Given the description of an element on the screen output the (x, y) to click on. 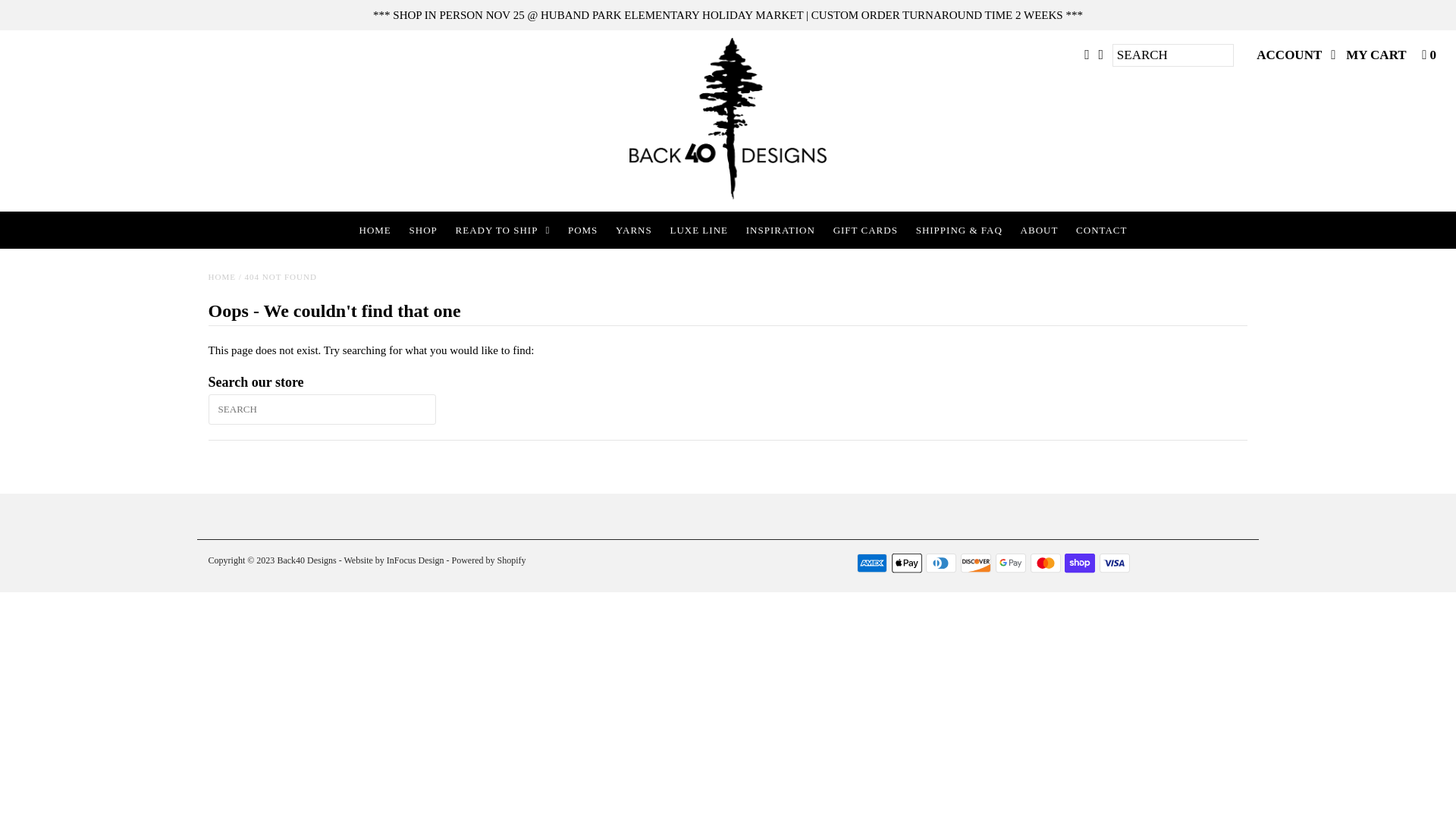
INSPIRATION Element type: text (780, 230)
YARNS Element type: text (633, 230)
SHOP Element type: text (423, 230)
HOME Element type: text (374, 230)
CONTACT Element type: text (1101, 230)
ABOUT Element type: text (1039, 230)
MY CART   0 Element type: text (1391, 55)
ACCOUNT Element type: text (1295, 55)
READY TO SHIP Element type: text (503, 230)
POMS Element type: text (582, 230)
SHIPPING & FAQ Element type: text (959, 230)
Back40 Designs Element type: text (305, 560)
GIFT CARDS Element type: text (865, 230)
LUXE LINE Element type: text (698, 230)
- Website by Element type: text (361, 560)
HOME Element type: text (221, 276)
Powered by Shopify Element type: text (488, 560)
